Given the description of an element on the screen output the (x, y) to click on. 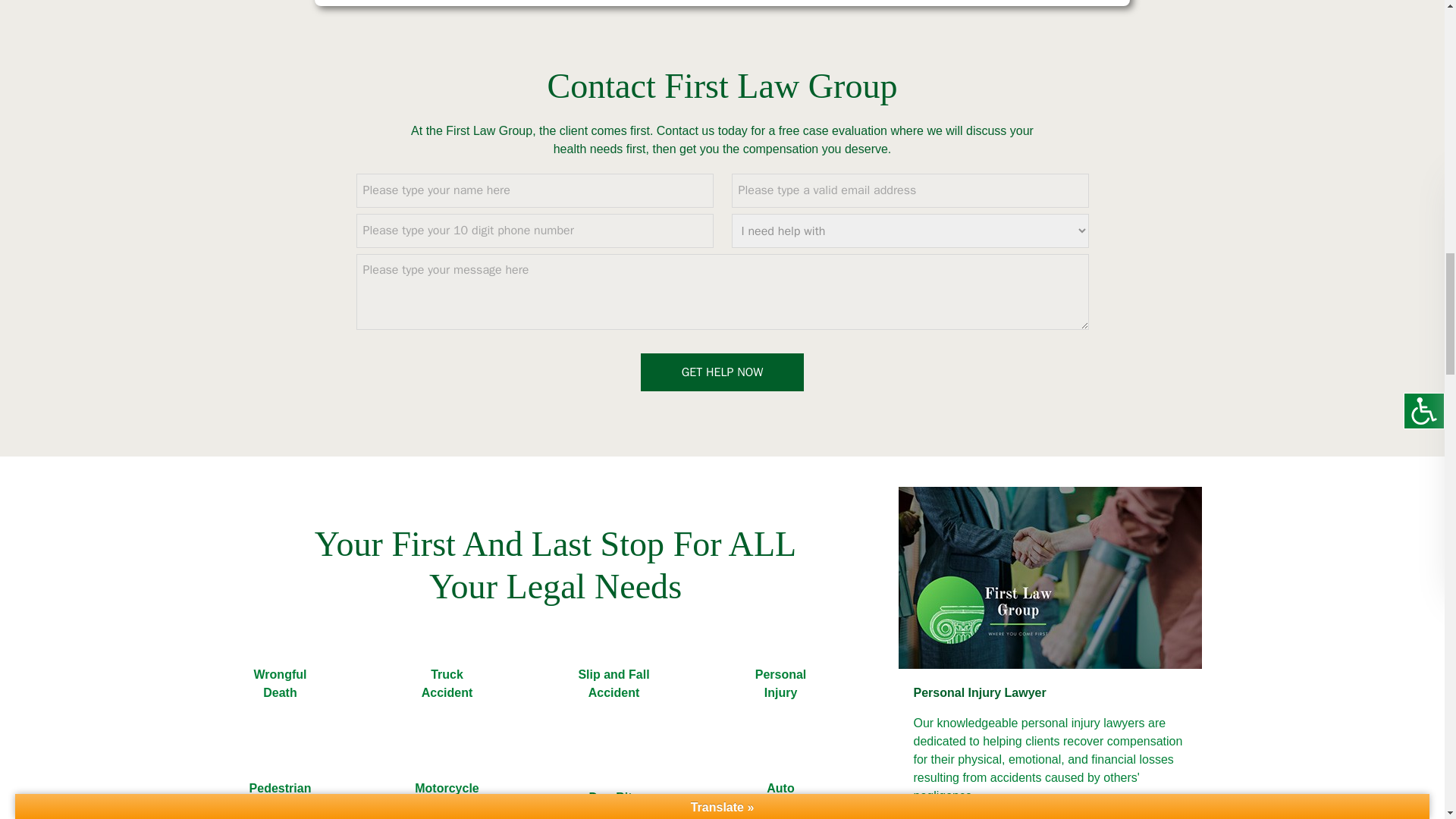
Pedestrian Accident (279, 783)
GET HELP NOW (721, 371)
Personal Injury (779, 683)
Truck Accident (446, 683)
Motorcycle Accident (446, 783)
Slip and Fall Accident (613, 683)
Wrongful Death (279, 683)
